Given the description of an element on the screen output the (x, y) to click on. 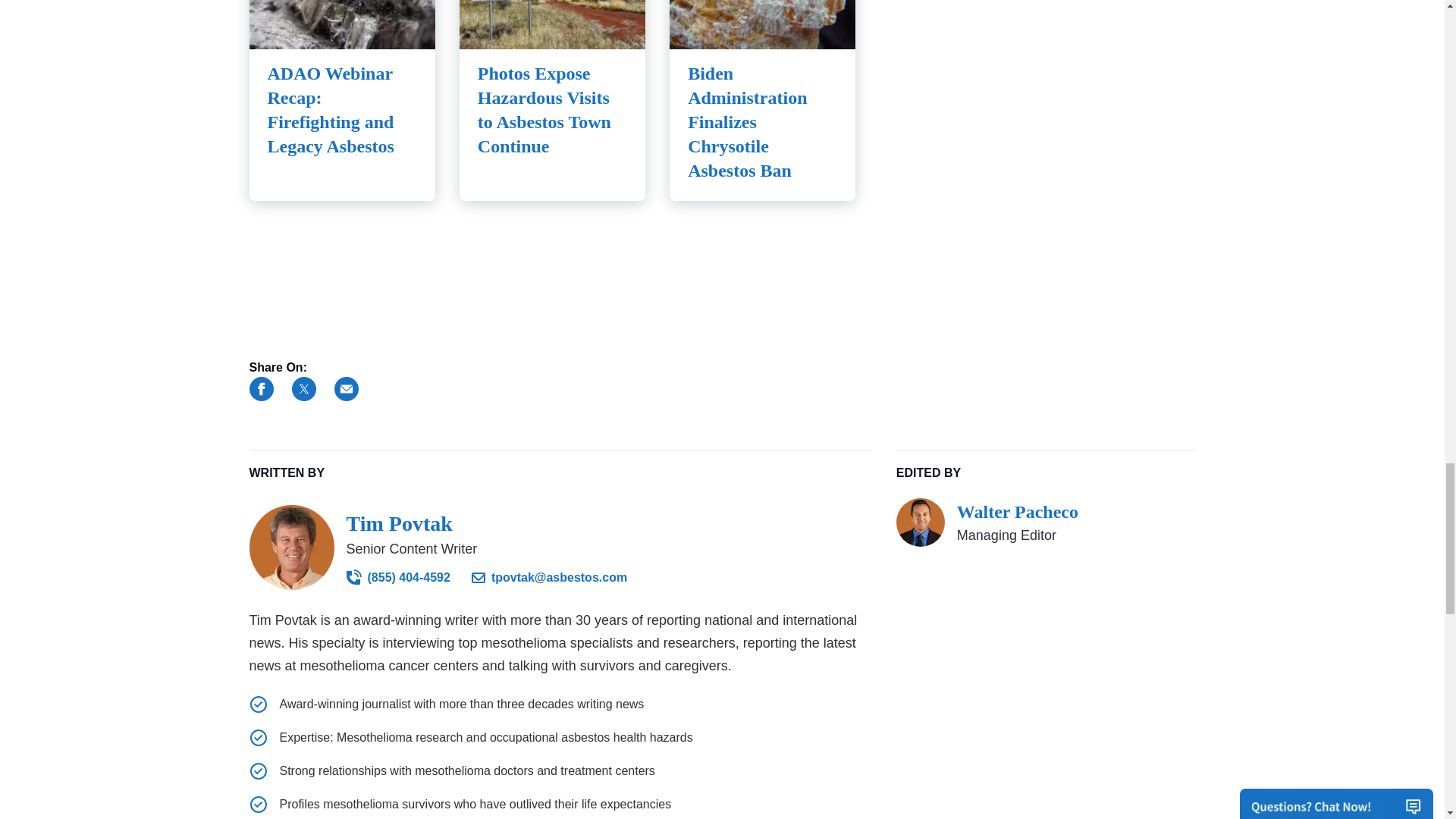
Email (345, 388)
Share this news on Twitter (303, 388)
Share this news on Facebook (260, 388)
